Given the description of an element on the screen output the (x, y) to click on. 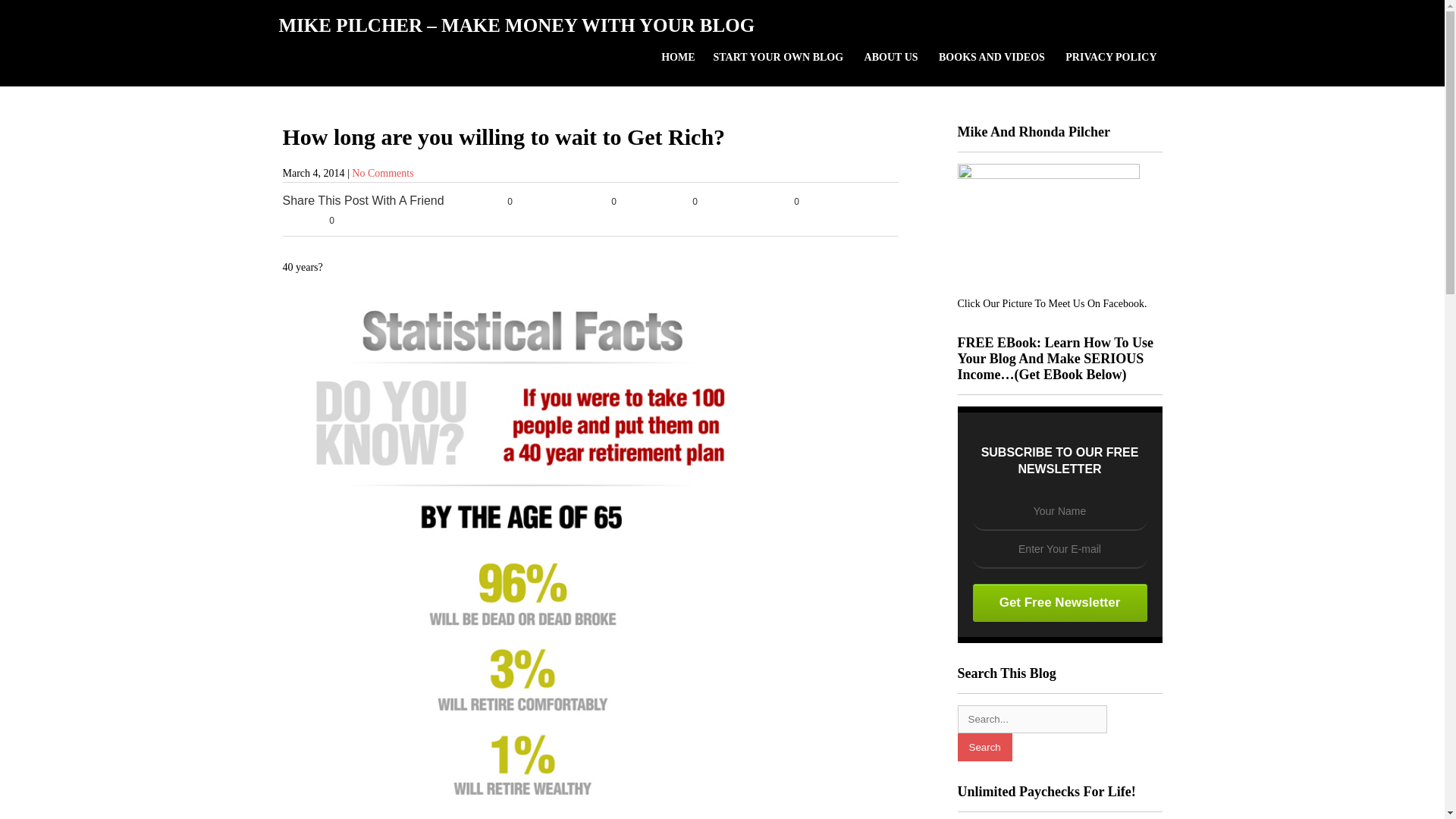
ABOUT US (891, 57)
Michael and Rhonda Pilcher on Facebook. (1047, 174)
Search (983, 747)
Search (983, 747)
Search (983, 747)
PRIVACY POLICY (1111, 57)
Be the first one to tweet this article! (590, 201)
0 (681, 201)
No Comments (382, 173)
0 (493, 201)
